Given the description of an element on the screen output the (x, y) to click on. 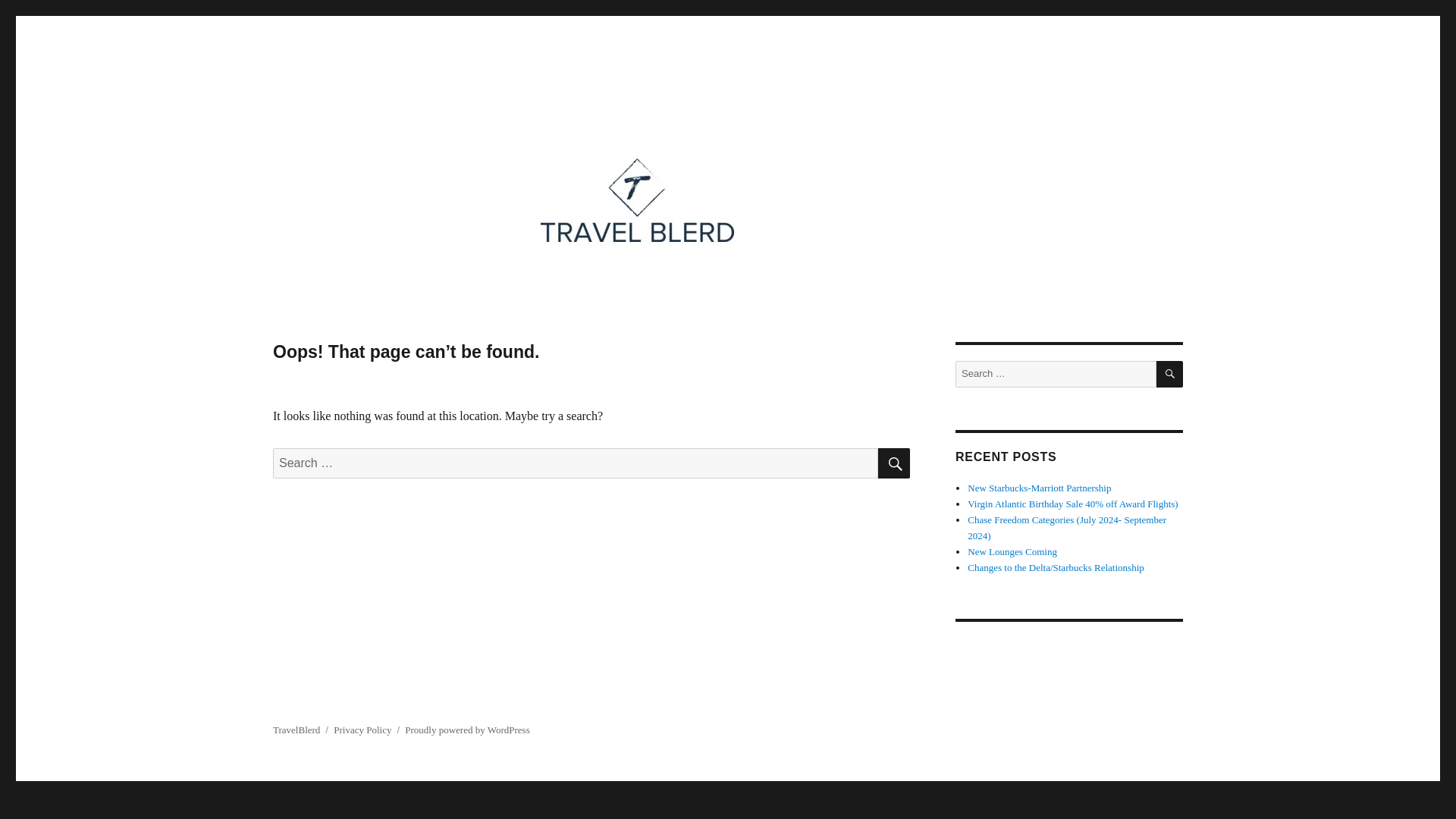
New Starbucks-Marriott Partnership (1039, 487)
New Lounges Coming (1012, 551)
SEARCH (893, 462)
Privacy Policy (362, 729)
Proudly powered by WordPress (466, 729)
TravelBlerd (296, 729)
SEARCH (1169, 374)
TravelBlerd (330, 114)
